Given the description of an element on the screen output the (x, y) to click on. 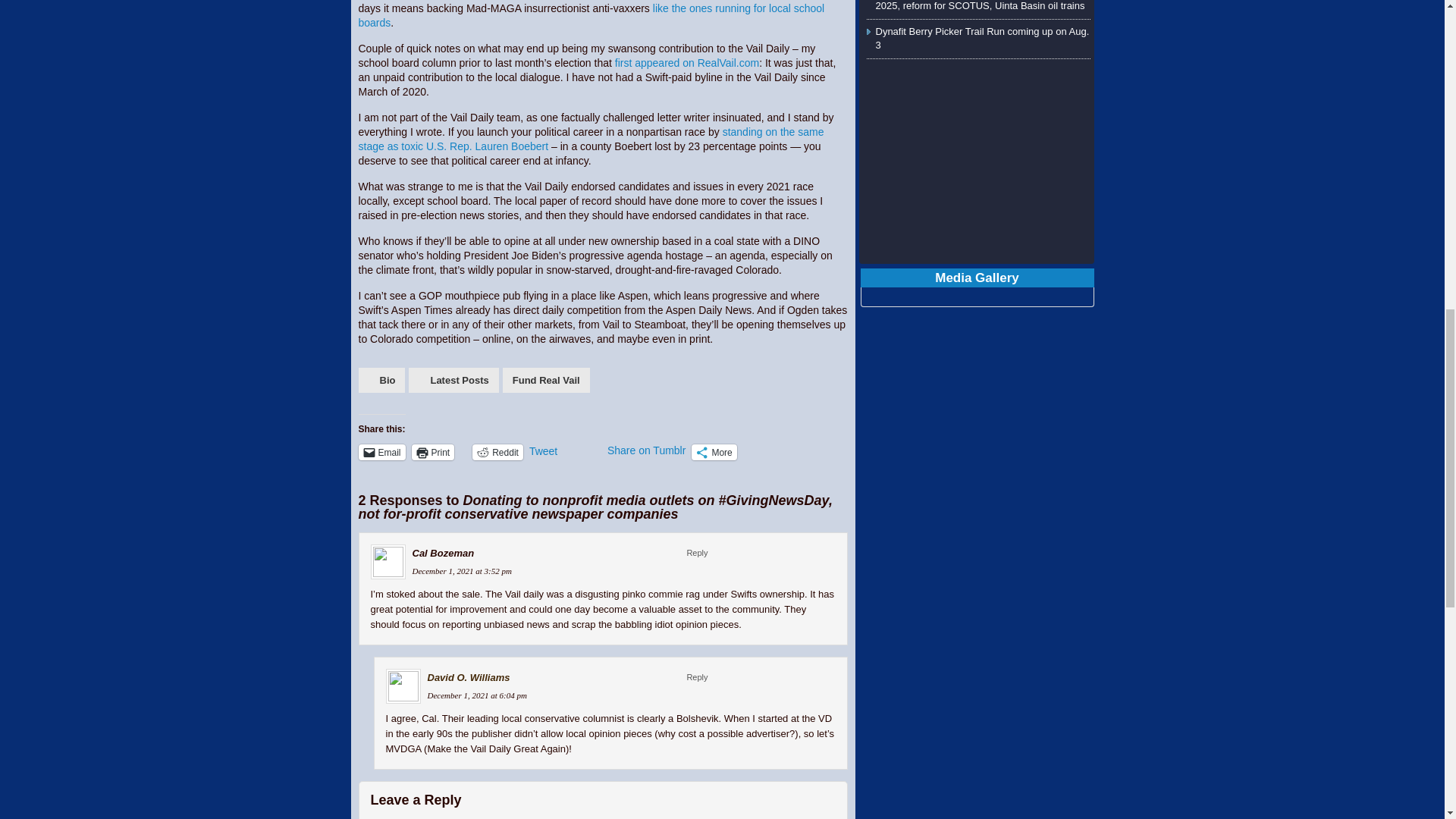
Email (381, 452)
Bio (381, 380)
like the ones running for local school boards (591, 15)
Share on Tumblr (646, 450)
first appeared on RealVail.com (686, 62)
Click to share on Reddit (496, 452)
Click to email a link to a friend (381, 452)
Reddit (496, 452)
Print (433, 452)
standing on the same stage as toxic U.S. Rep. Lauren Boebert (591, 139)
Latest Posts (453, 380)
Tweet (565, 451)
Click to print (433, 452)
Fund Real Vail (545, 380)
